Given the description of an element on the screen output the (x, y) to click on. 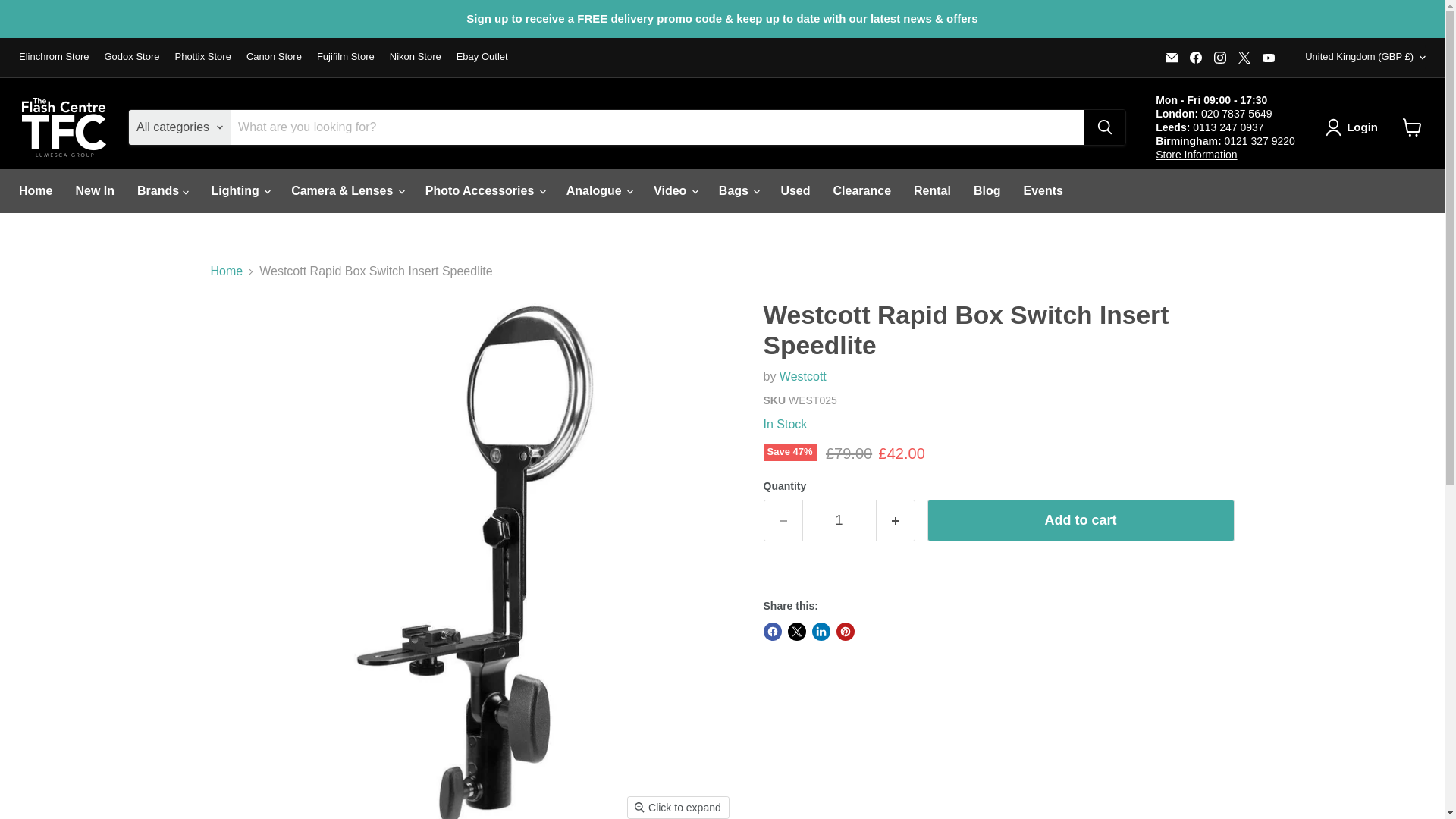
Facebook (1196, 56)
Phottix Store (202, 57)
Email (1171, 56)
1 (839, 520)
X (1244, 56)
Fujifilm Store (345, 57)
Westcott (802, 376)
Instagram (1219, 56)
Find us on YouTube (1268, 56)
Find us on X (1244, 56)
